Given the description of an element on the screen output the (x, y) to click on. 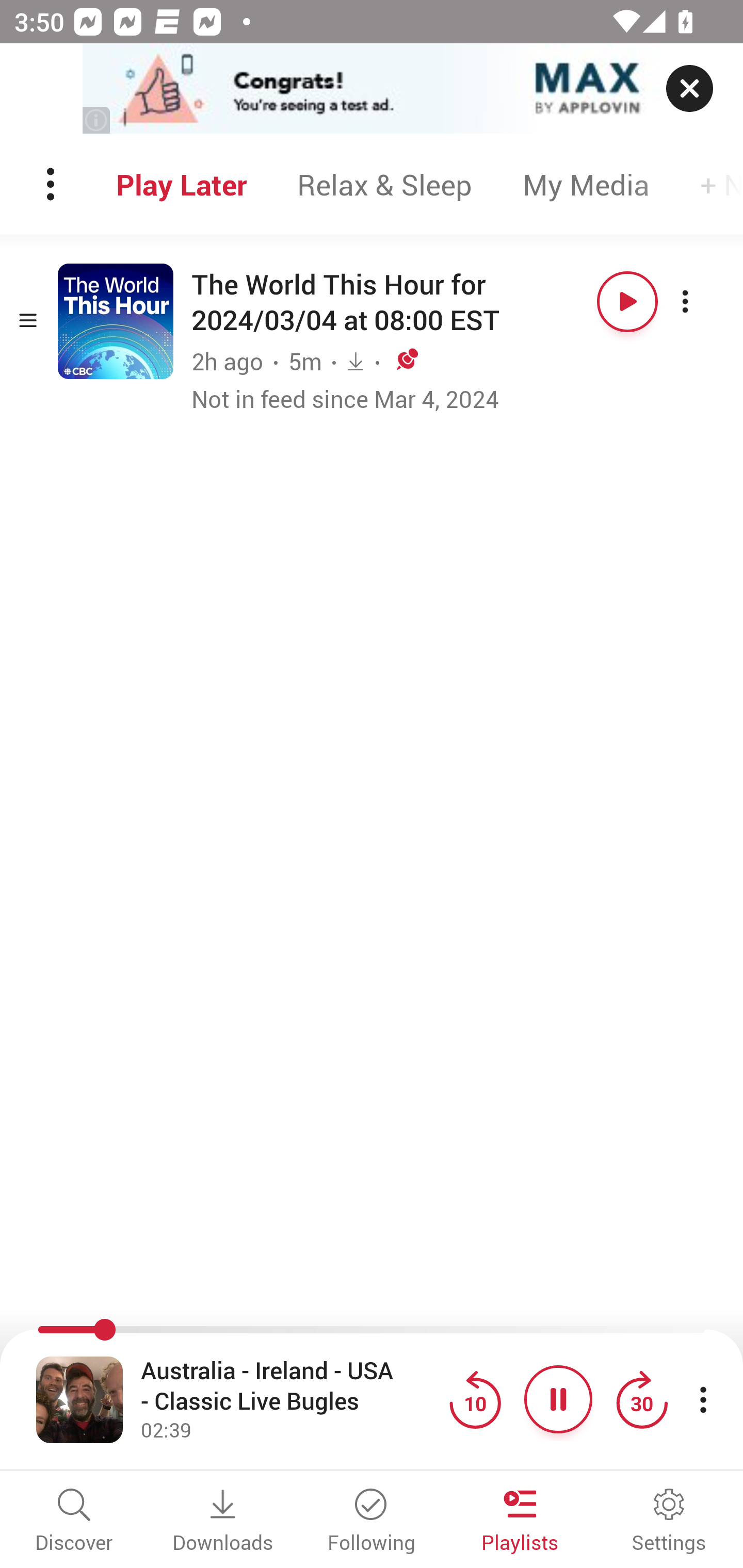
app-monetization (371, 88)
(i) (96, 119)
Menu (52, 184)
Play Later (180, 184)
Relax & Sleep (384, 184)
My Media (585, 184)
Play button (627, 301)
More options (703, 301)
Open series The World This Hour (115, 321)
Open fullscreen player (79, 1399)
More player controls (703, 1399)
Australia - Ireland - USA - Classic Live Bugles (290, 1385)
Pause button (558, 1398)
Jump back (475, 1399)
Jump forward (641, 1399)
Discover (74, 1521)
Downloads (222, 1521)
Following (371, 1521)
Playlists (519, 1521)
Settings (668, 1521)
